Given the description of an element on the screen output the (x, y) to click on. 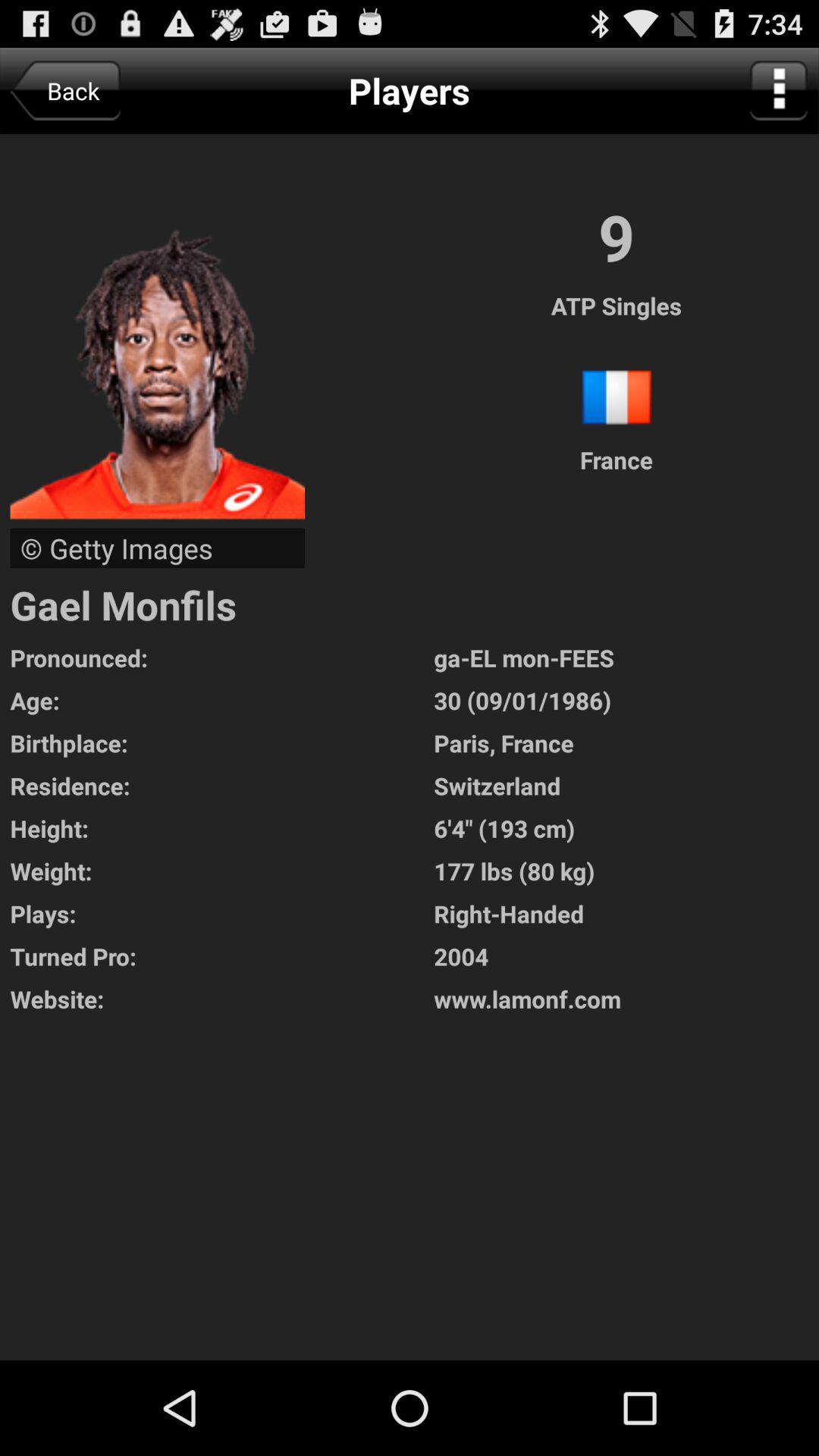
choose app next to pronounced: item (626, 700)
